Given the description of an element on the screen output the (x, y) to click on. 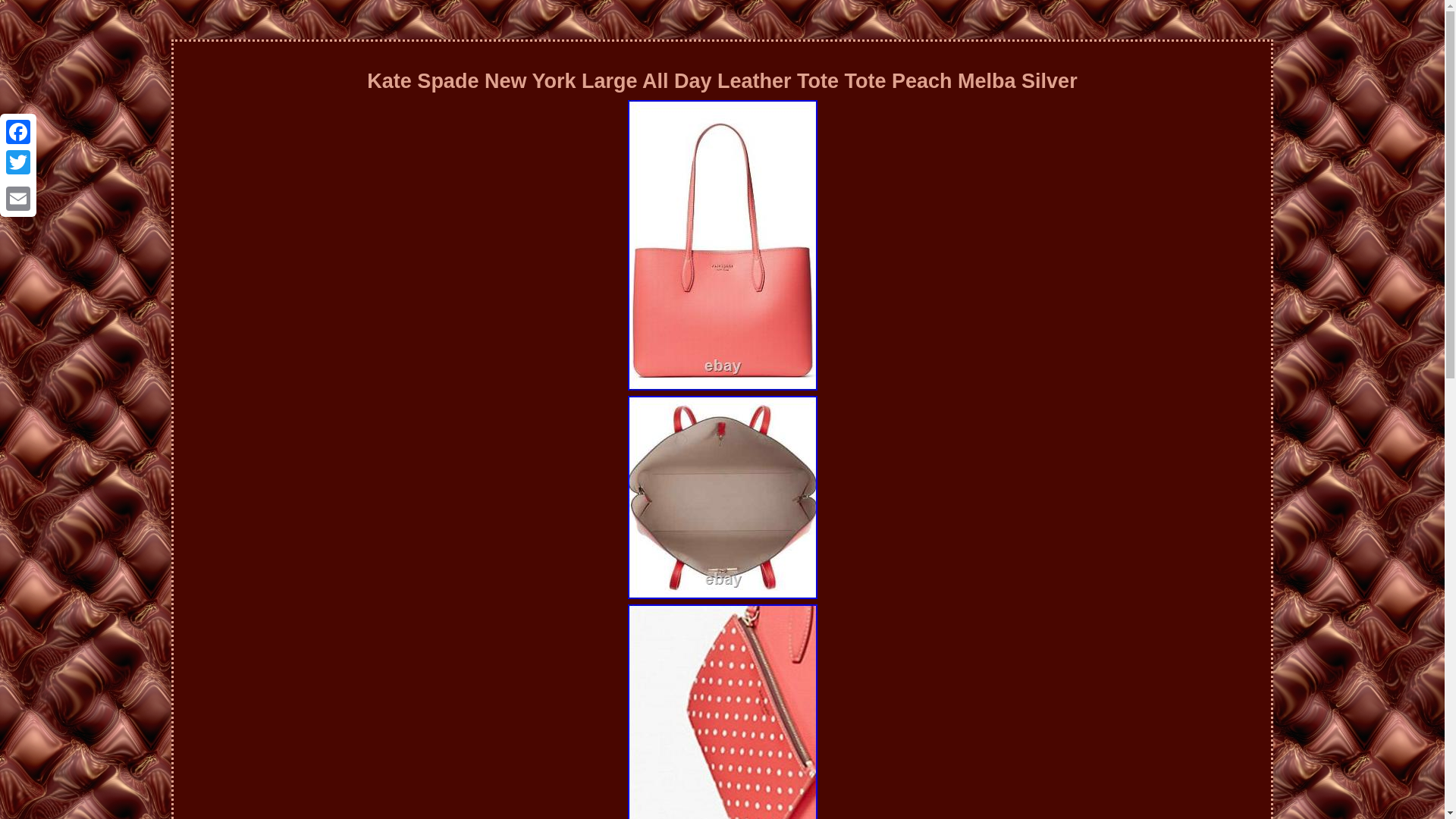
Email (17, 198)
Facebook (17, 132)
Twitter (17, 162)
